Given the description of an element on the screen output the (x, y) to click on. 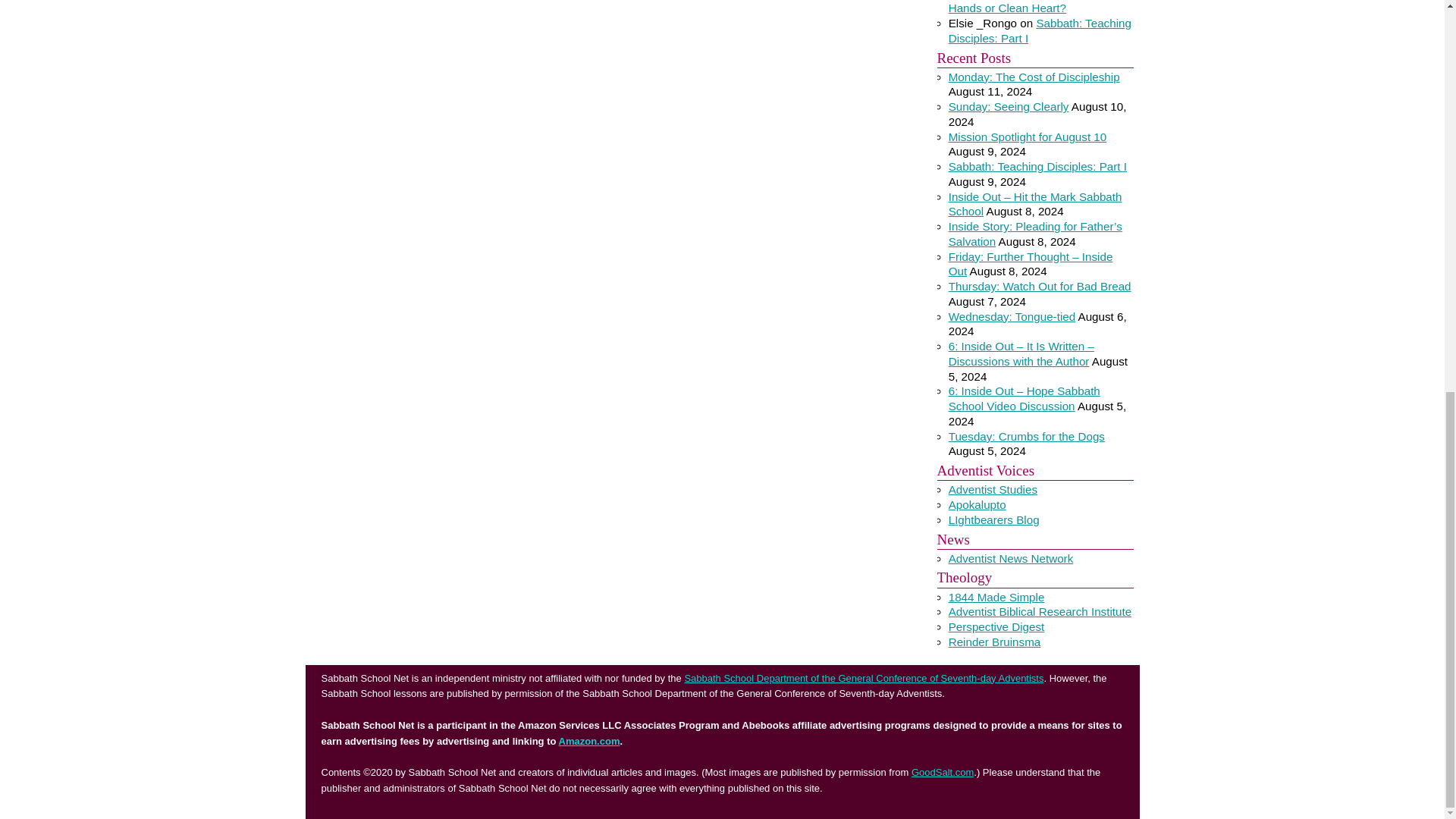
Publication of Adventist Theological Society (997, 626)
Official Adventist News Network (1011, 558)
by Arthur Patrick of Avondale (992, 489)
 David Hamstra blog (977, 504)
